Given the description of an element on the screen output the (x, y) to click on. 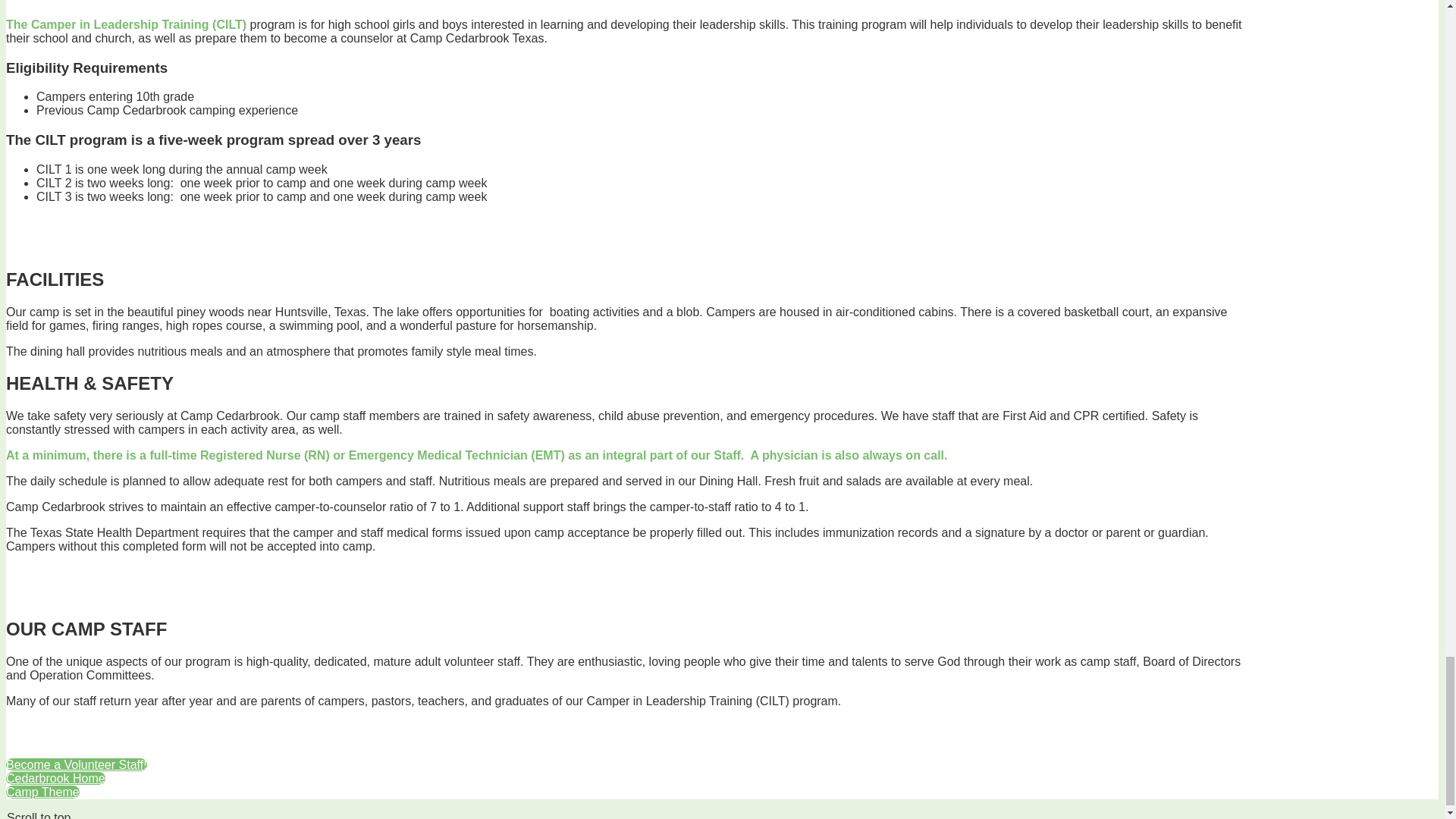
Camp Theme (42, 791)
Become a Volunteer Staff! (76, 764)
Cedarbrook Home (54, 778)
